Given the description of an element on the screen output the (x, y) to click on. 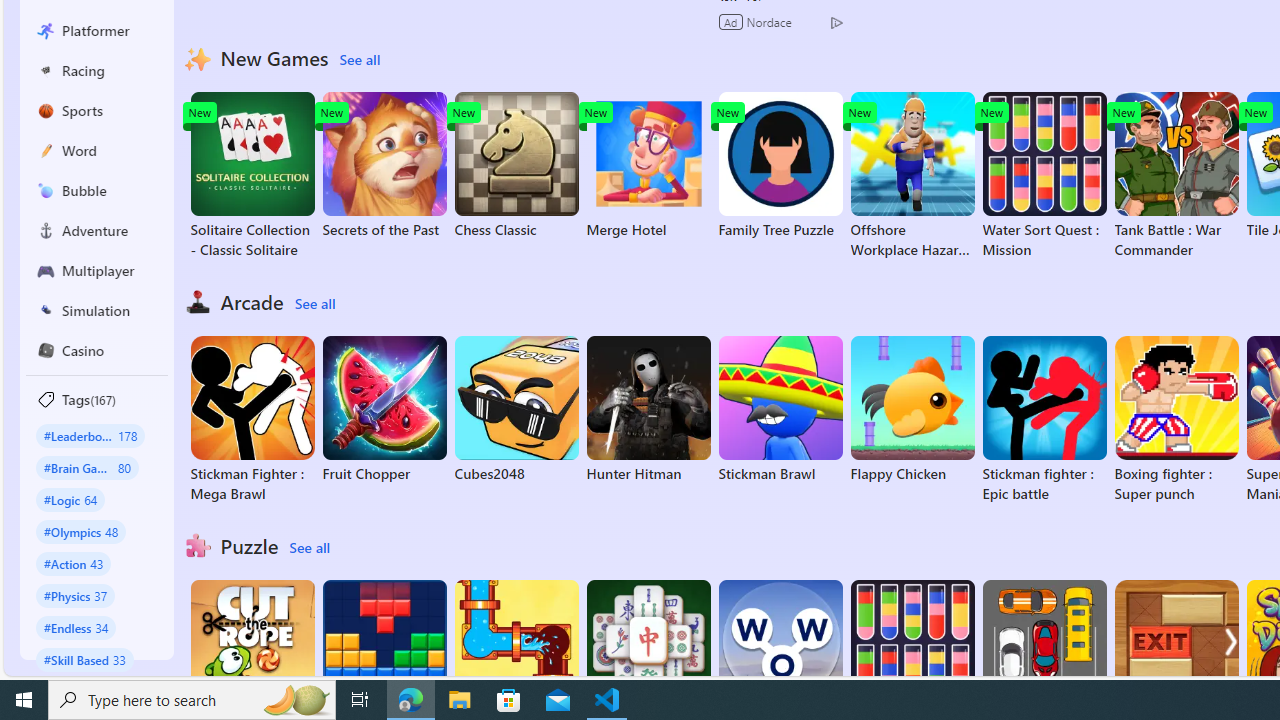
Hunter Hitman (648, 409)
Class: ad-choice  ad-choice-mono  (836, 21)
Offshore Workplace Hazard Game (912, 175)
Secrets of the Past (384, 165)
Cubes2048 (516, 409)
Stickman Fighter : Mega Brawl (251, 419)
#Leaderboard 178 (90, 435)
#Skill Based 33 (84, 659)
Merge Hotel (648, 165)
Boxing fighter : Super punch (1176, 419)
#Olympics 48 (80, 531)
